Given the description of an element on the screen output the (x, y) to click on. 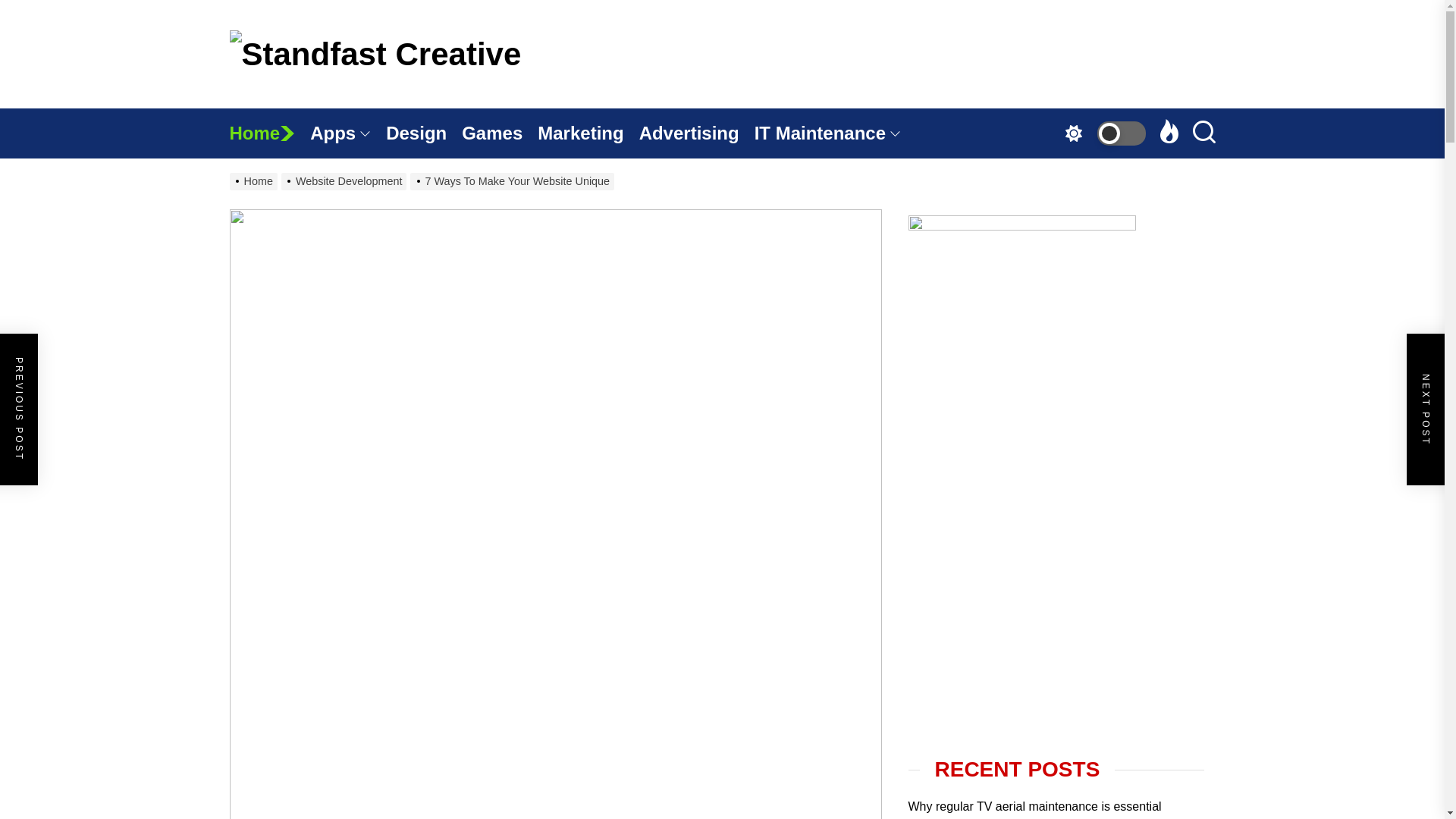
Games (499, 133)
Standfast Creative (594, 127)
Marketing (588, 133)
Apps (347, 133)
Advertising (696, 133)
IT Maintenance (834, 133)
Design (423, 133)
Home (269, 133)
Home (269, 133)
